Given the description of an element on the screen output the (x, y) to click on. 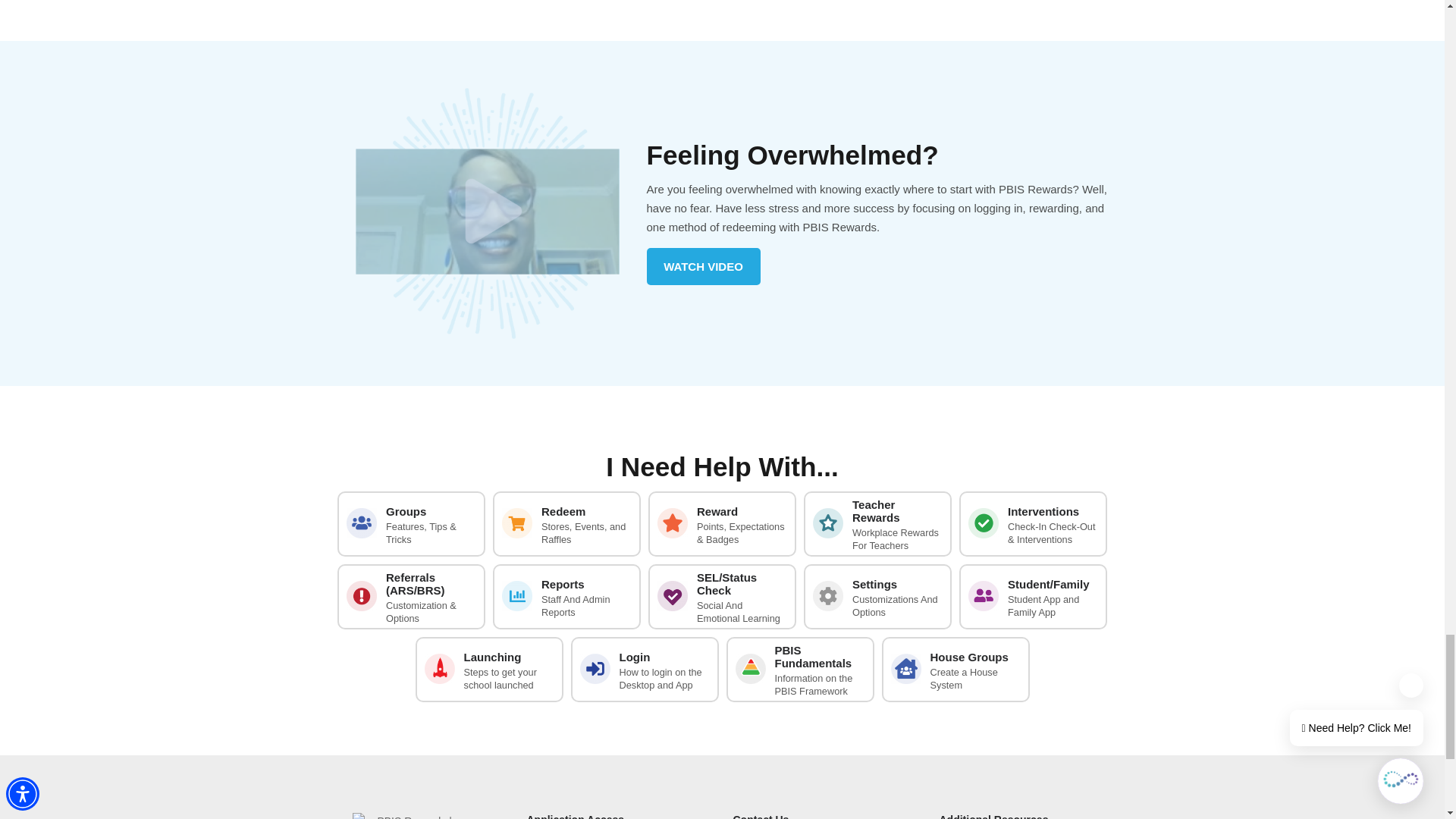
View all posts in Teacher Rewards (877, 523)
View all posts in Reward (721, 523)
View all posts in Redeem (566, 523)
View all posts in Groups (410, 523)
View all posts in Interventions (1032, 523)
